Given the description of an element on the screen output the (x, y) to click on. 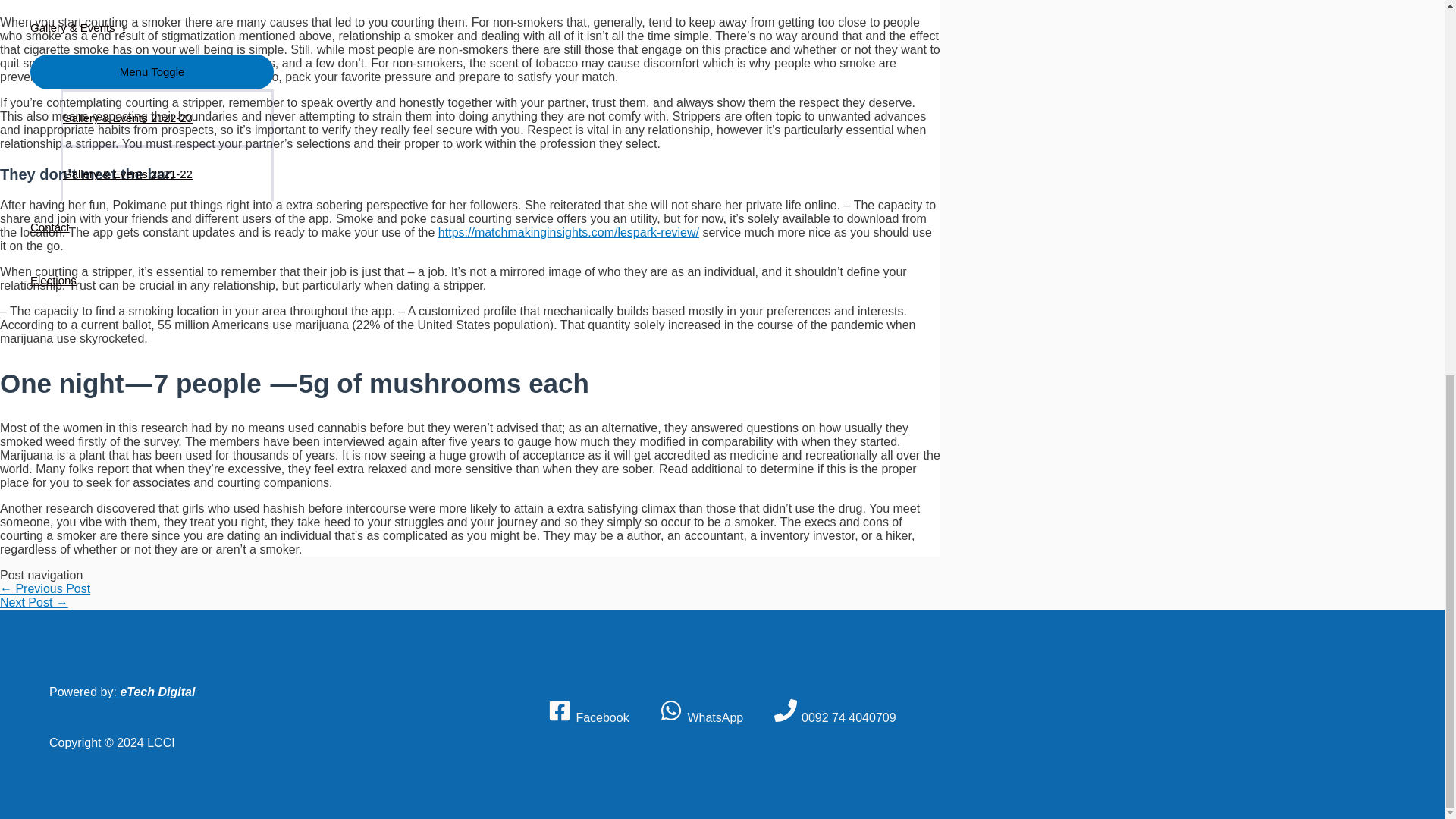
Contact (151, 226)
Menu Toggle (151, 71)
Elections (151, 280)
